Given the description of an element on the screen output the (x, y) to click on. 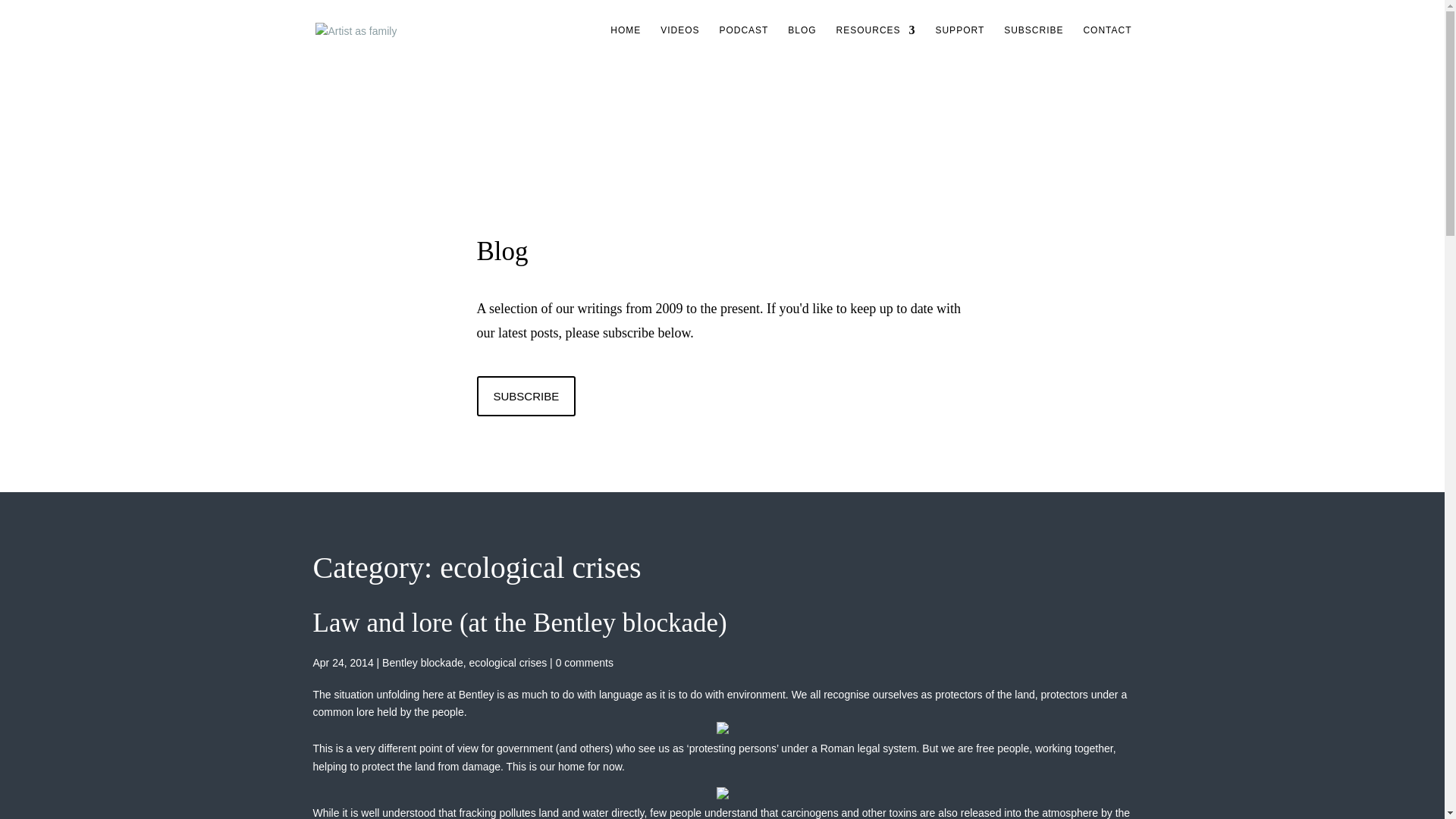
SUBSCRIBE (1033, 42)
SUPPORT (959, 42)
VIDEOS (679, 42)
Bentley blockade (422, 662)
ecological crises (507, 662)
SUBSCRIBE (525, 395)
PODCAST (743, 42)
CONTACT (1107, 42)
RESOURCES (875, 42)
0 comments (584, 662)
